Given the description of an element on the screen output the (x, y) to click on. 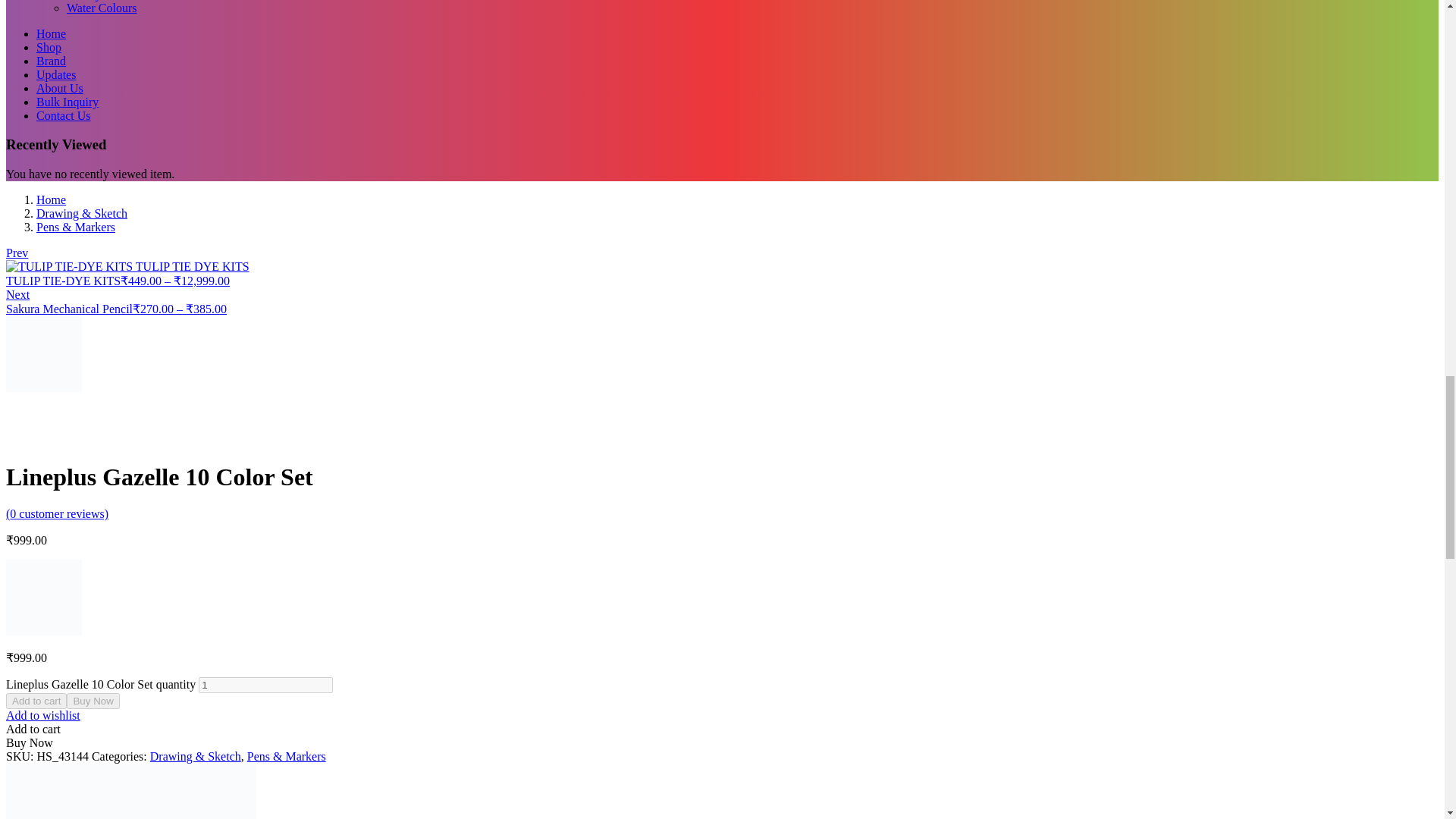
TULIP TIE-DYE KITS (126, 266)
Sakura Mechanical Pencil (43, 354)
1 (265, 684)
